Given the description of an element on the screen output the (x, y) to click on. 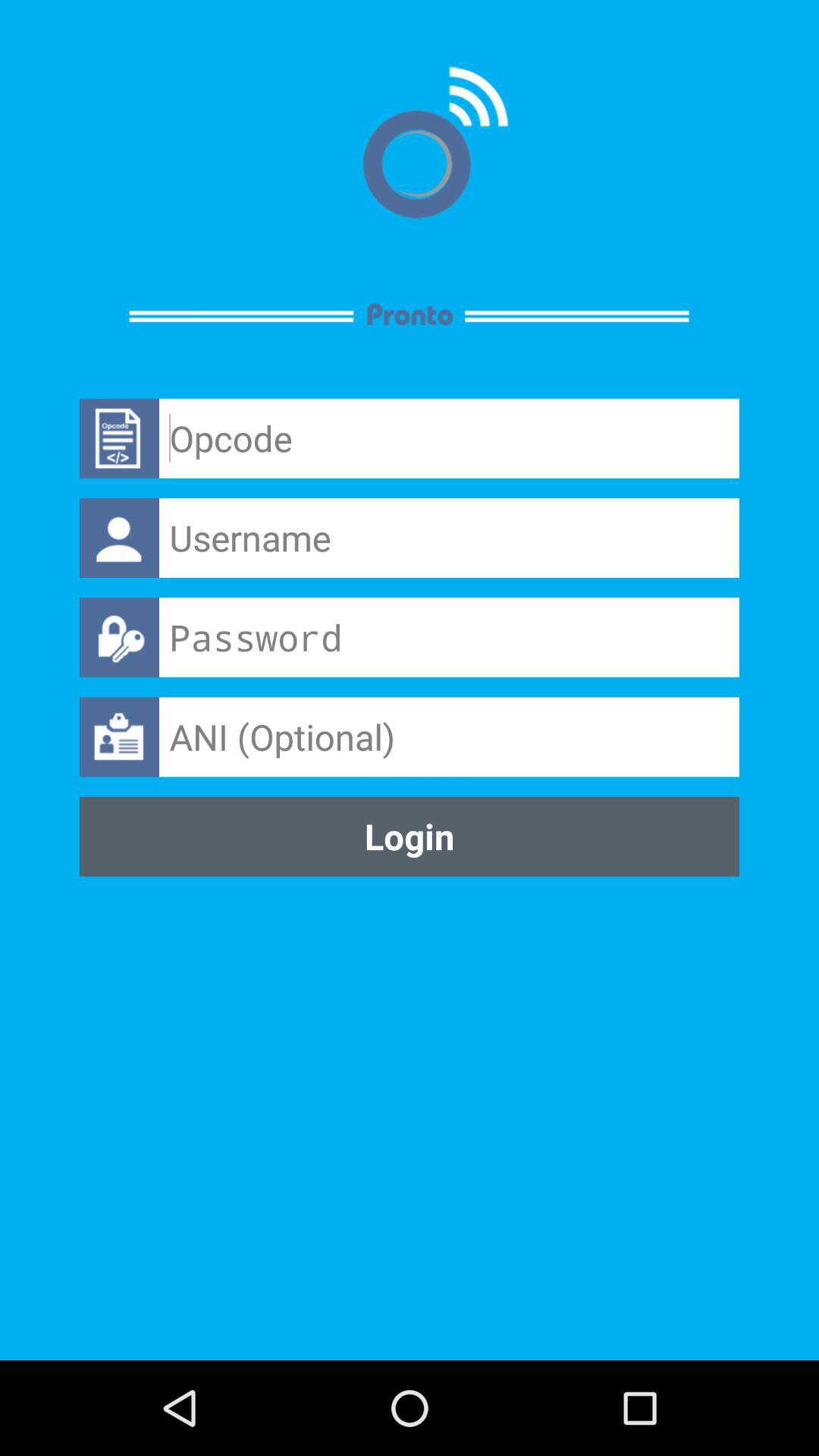
choose the login icon (409, 836)
